Given the description of an element on the screen output the (x, y) to click on. 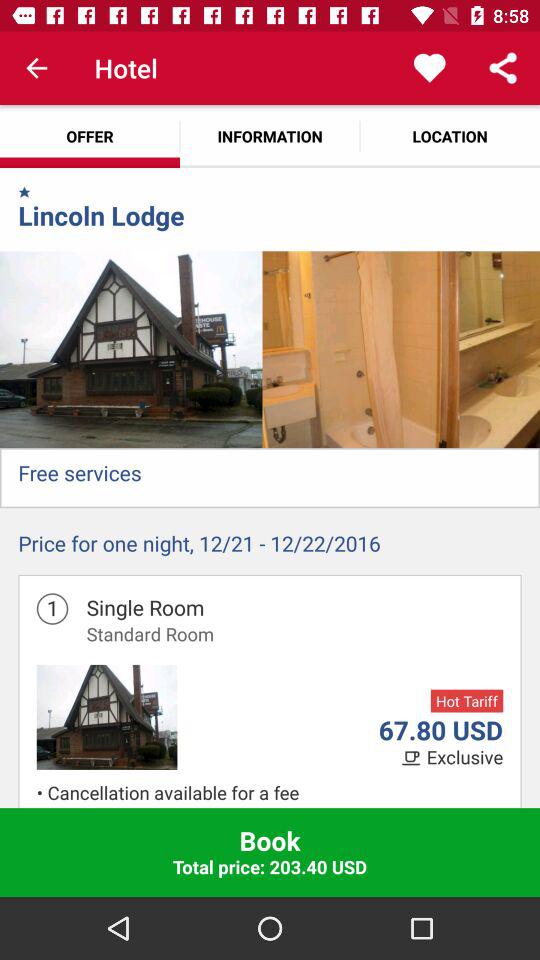
select the icon below 67.80 usd item (464, 757)
